Given the description of an element on the screen output the (x, y) to click on. 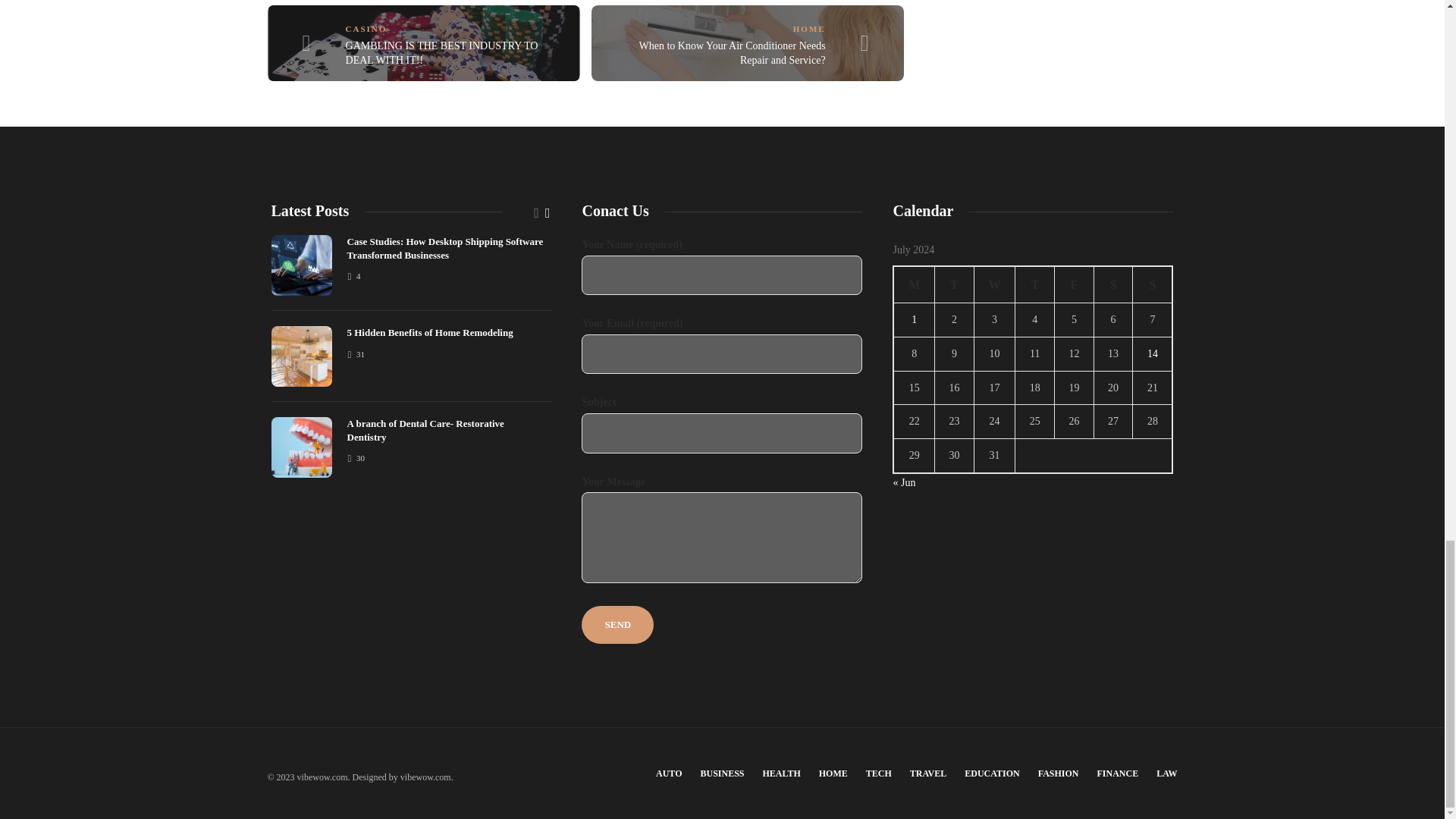
Monday (913, 284)
Friday (1074, 284)
Thursday (1034, 284)
Send (616, 624)
Wednesday (994, 284)
Saturday (1112, 284)
Sunday (1152, 284)
Tuesday (954, 284)
